Given the description of an element on the screen output the (x, y) to click on. 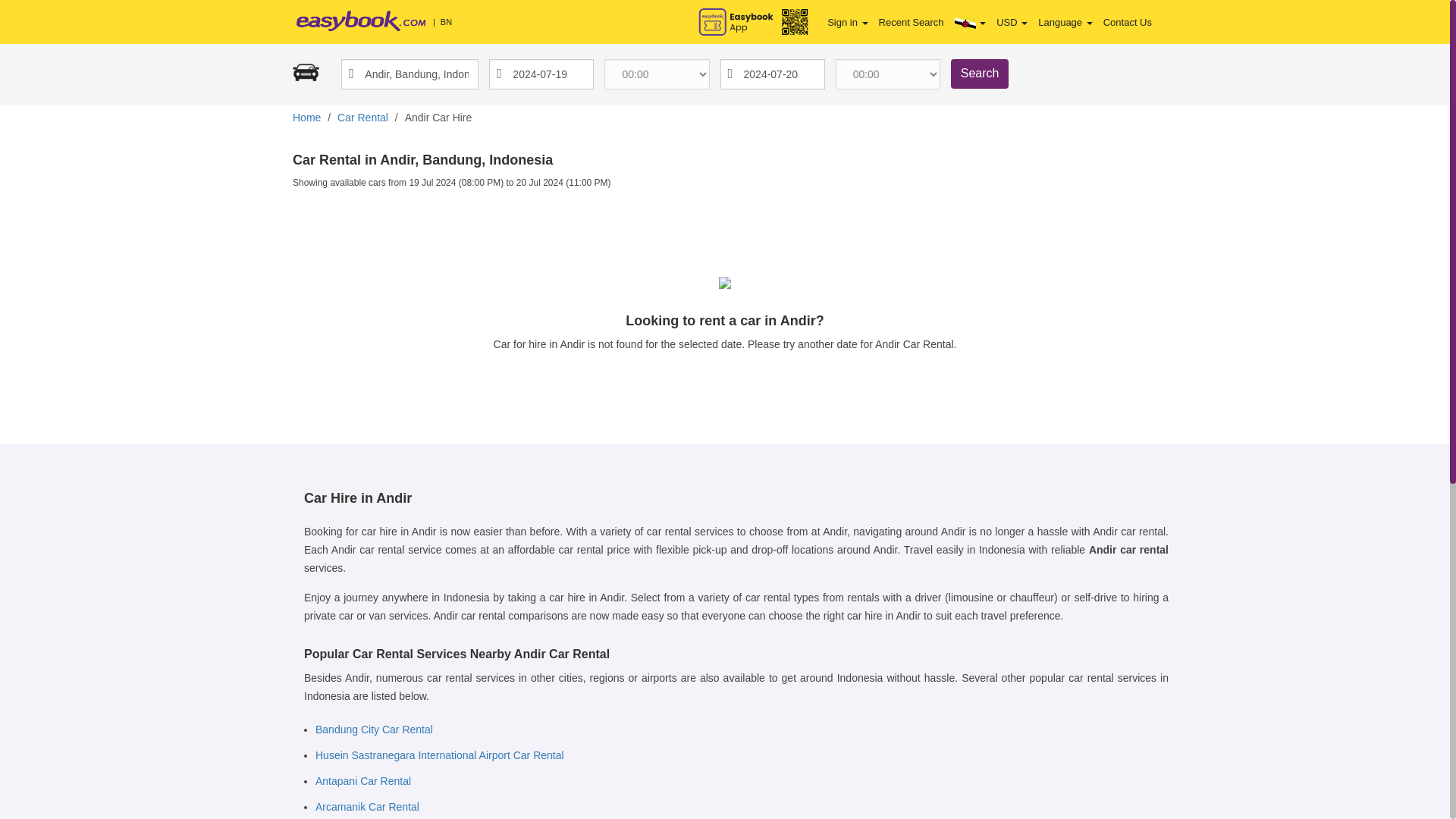
2024-07-19 (541, 73)
USD (1011, 22)
2024-07-20 (772, 73)
Contact Us (1127, 22)
Sign in (847, 22)
Recent Search (911, 22)
Language (1064, 22)
Andir, Bandung, Indonesia (409, 73)
